Given the description of an element on the screen output the (x, y) to click on. 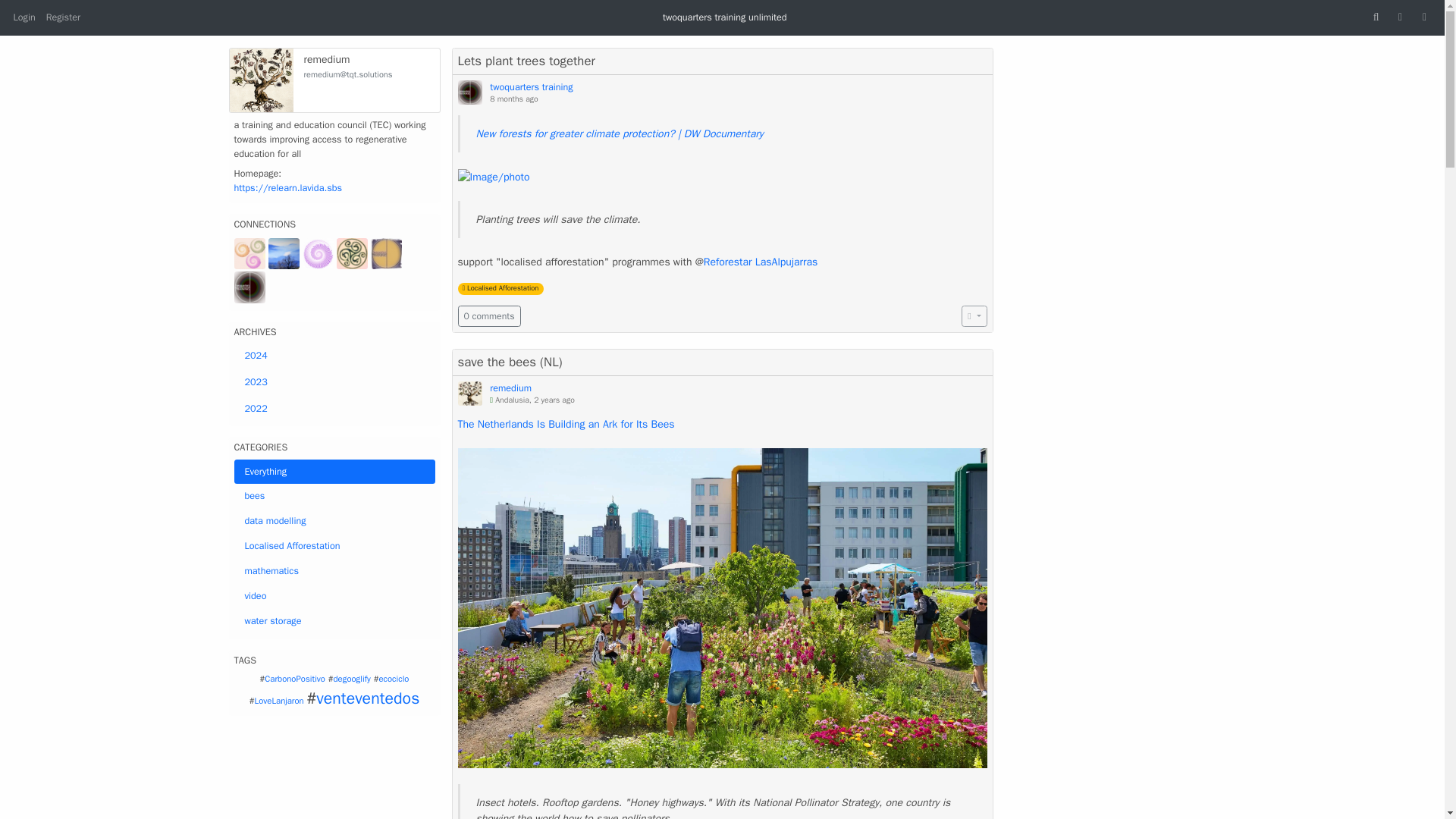
Sign in (23, 17)
Register (62, 17)
Login (23, 17)
2024 (332, 355)
Help and documentation (1400, 17)
Create an account (62, 17)
